Given the description of an element on the screen output the (x, y) to click on. 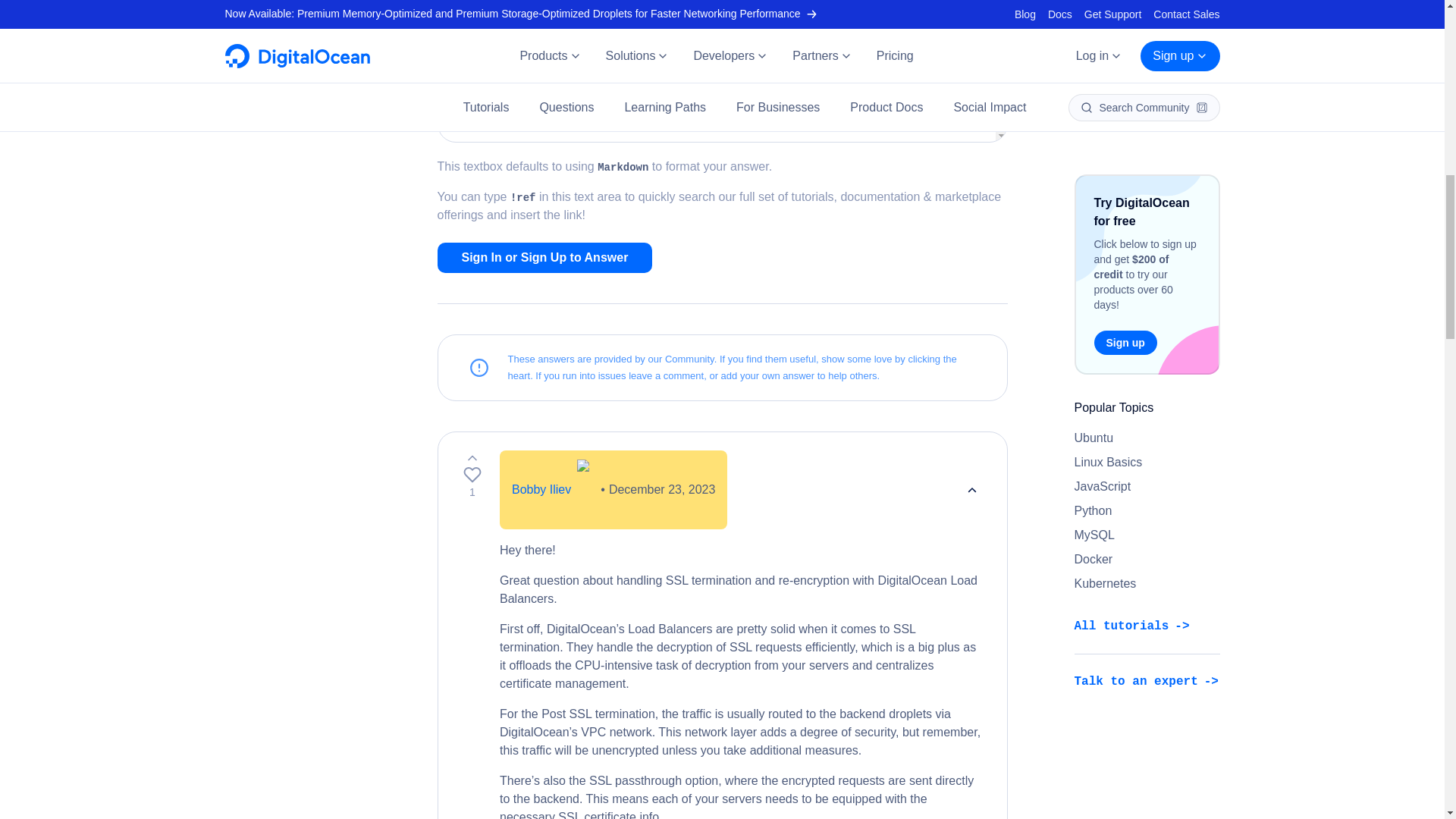
Unordered list (678, 76)
Heading 3 (656, 76)
Heading 2 (635, 76)
Image (568, 76)
Bold (458, 76)
Quote (723, 76)
Ordered list (700, 76)
Heading 1 (612, 76)
Italic (480, 76)
Code (787, 76)
Strikethrough (524, 76)
Highlight (590, 76)
Callout (744, 76)
Link (547, 76)
Underline (503, 76)
